Given the description of an element on the screen output the (x, y) to click on. 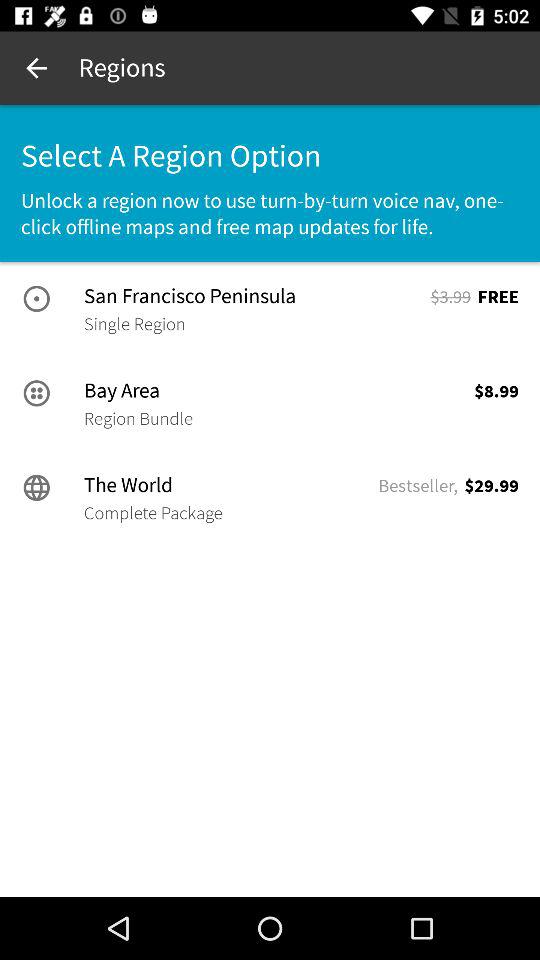
turn on icon next to the $8.99 icon (138, 418)
